Given the description of an element on the screen output the (x, y) to click on. 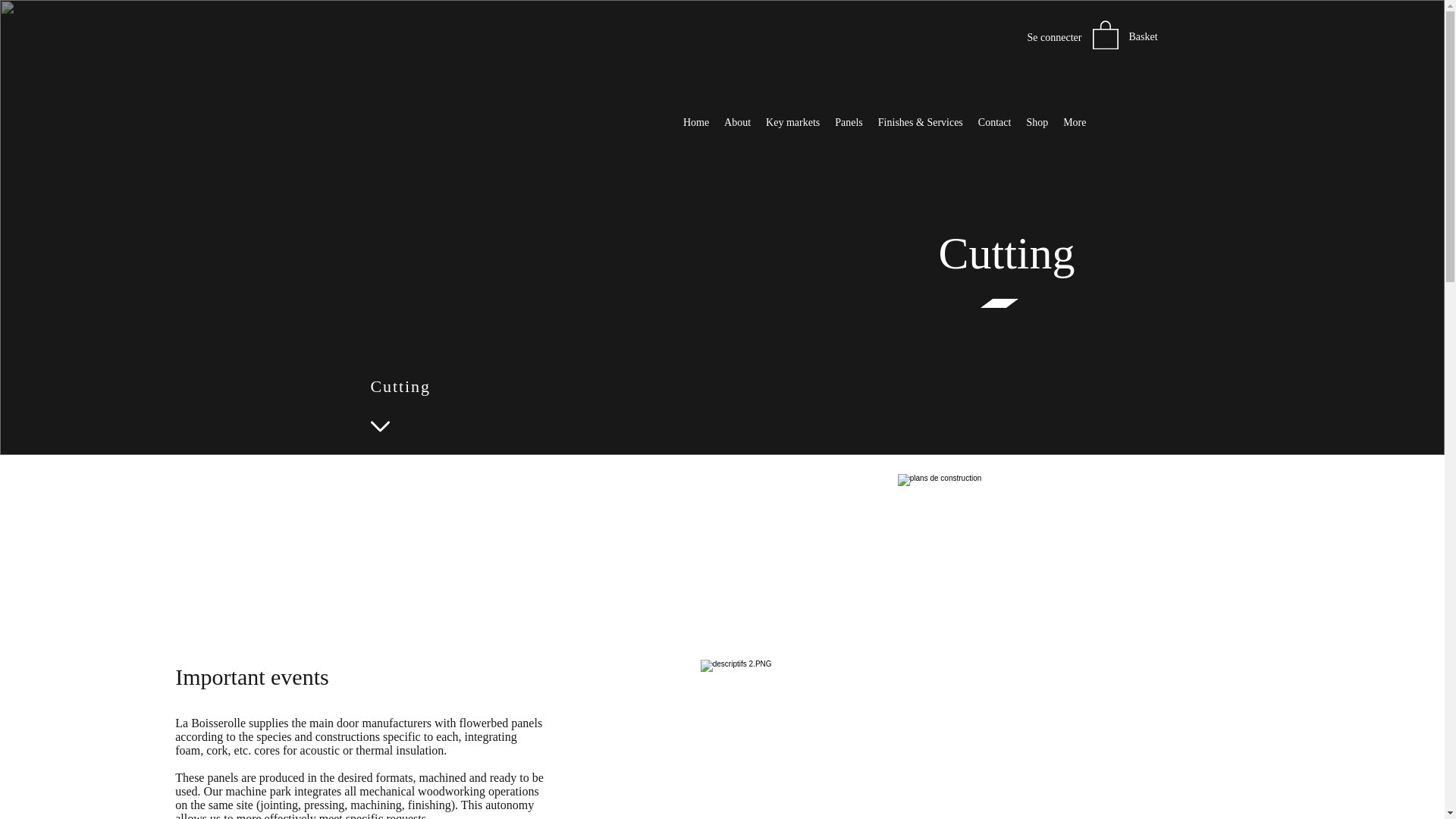
Home (695, 134)
LaBoisserolle-46.jpg (1083, 557)
Se connecter (1054, 37)
Shop (1036, 134)
